Given the description of an element on the screen output the (x, y) to click on. 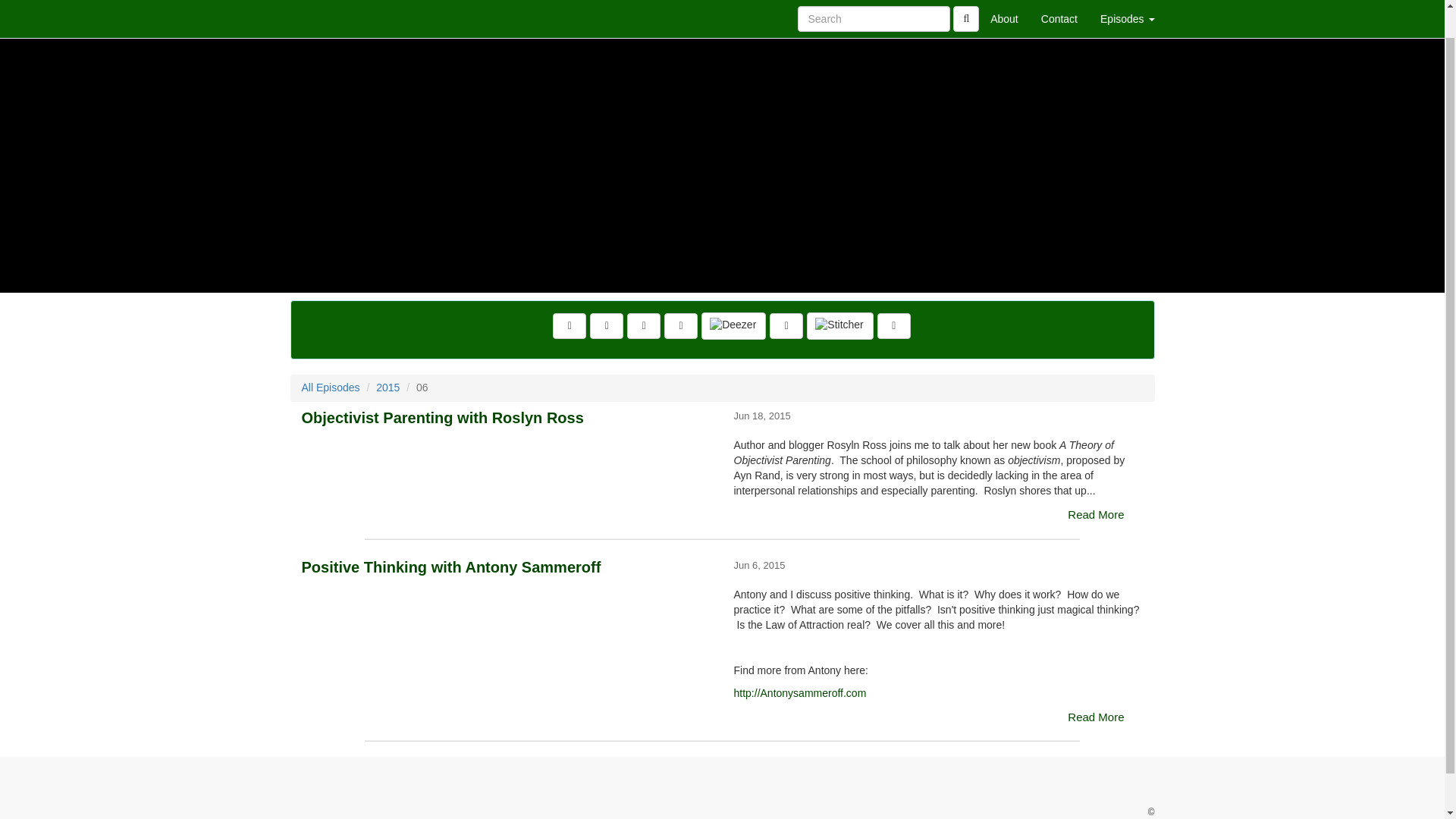
About (1003, 4)
Objectivist Parenting with Roslyn Ross (506, 463)
Listen on Deezer (733, 325)
Positive Thinking with Antony Sammeroff (506, 613)
Go To YouTube Channel (894, 325)
Listen on Apple Podcasts (786, 325)
Visit Us on Twitter (606, 325)
Email This Podcast (644, 325)
Contact (1059, 4)
Listen on Stitcher (839, 325)
